Given the description of an element on the screen output the (x, y) to click on. 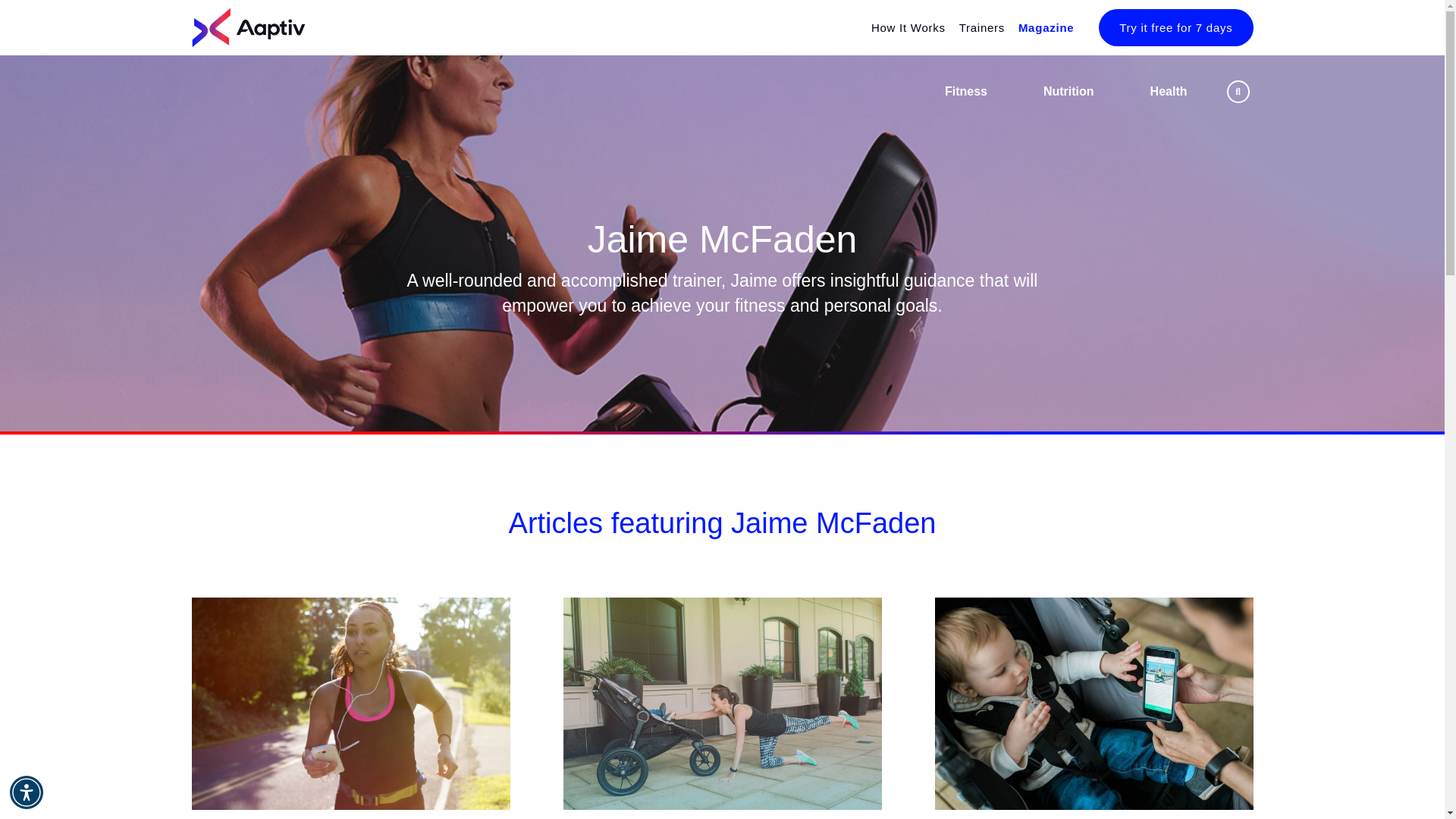
Trainers (975, 27)
Accessibility Menu (26, 792)
Magazine (1040, 27)
How It Works (902, 27)
Health (1168, 91)
Try it free for 7 days (1175, 27)
Nutrition (1069, 91)
Fitness (965, 91)
